Given the description of an element on the screen output the (x, y) to click on. 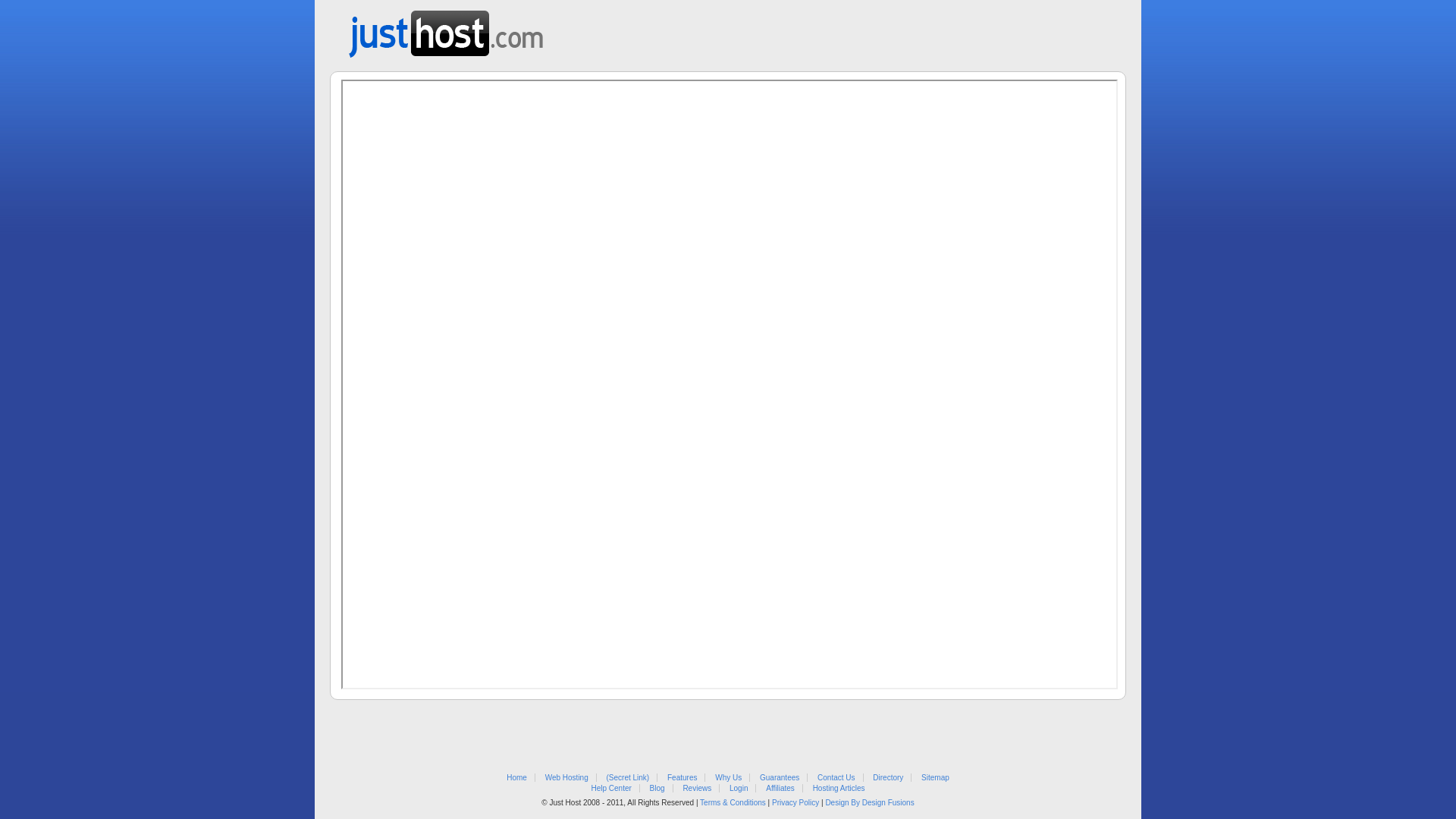
Terms & Conditions Element type: text (732, 802)
Contact Us Element type: text (835, 777)
Web Hosting from Just Host Element type: text (445, 28)
Design By Design Fusions Element type: text (869, 802)
Privacy Policy Element type: text (795, 802)
Affiliates Element type: text (779, 788)
Guarantees Element type: text (779, 777)
Reviews Element type: text (696, 788)
Sitemap Element type: text (935, 777)
Hosting Articles Element type: text (838, 788)
Blog Element type: text (657, 788)
Why Us Element type: text (728, 777)
Home Element type: text (516, 777)
Web Hosting Element type: text (566, 777)
Features Element type: text (681, 777)
(Secret Link) Element type: text (627, 777)
Help Center Element type: text (610, 788)
Directory Element type: text (887, 777)
Login Element type: text (738, 788)
